Given the description of an element on the screen output the (x, y) to click on. 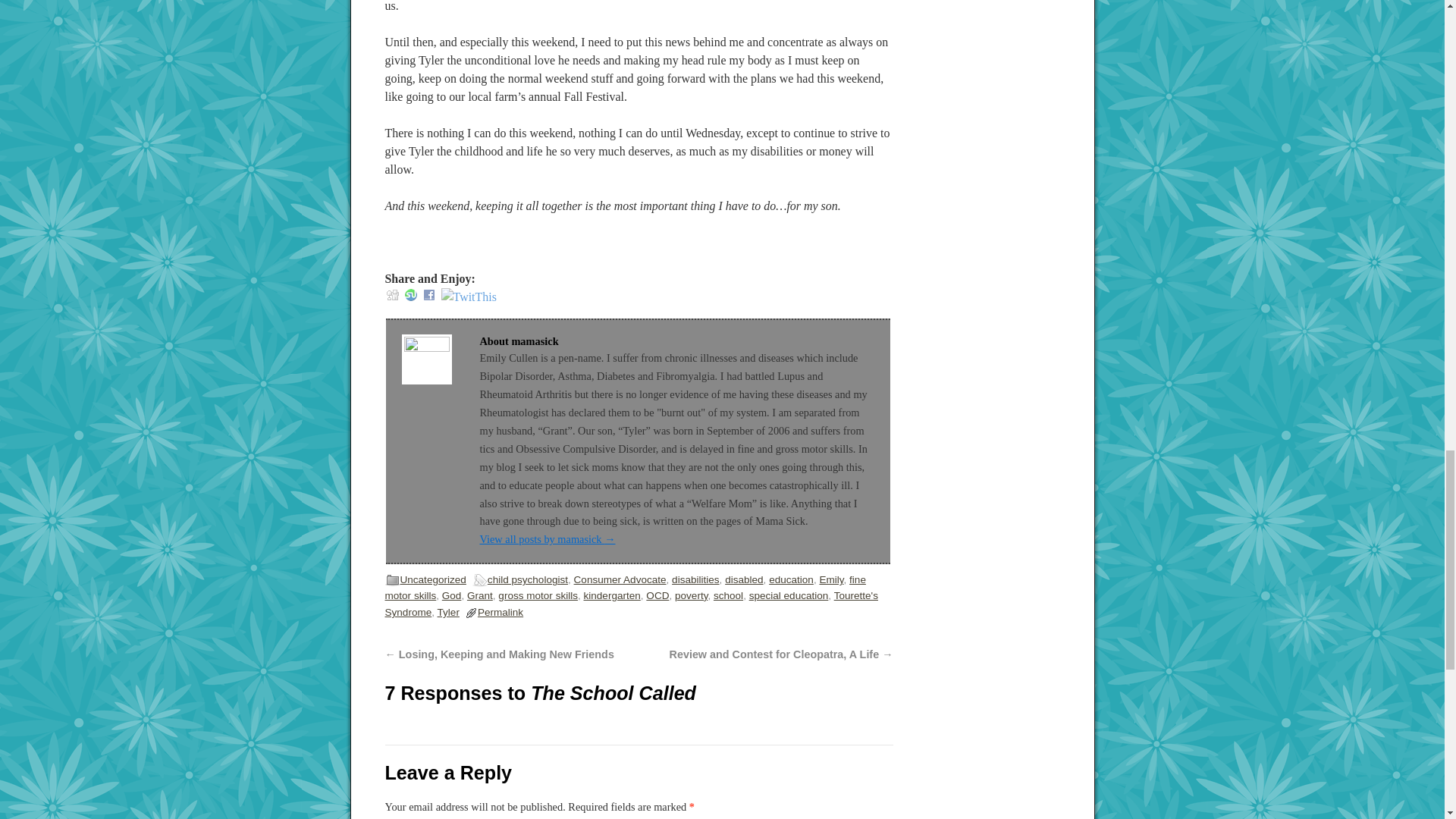
disabled (743, 579)
TwitThis (468, 297)
education (790, 579)
Permalink (499, 612)
special education (788, 595)
Consumer Advocate (619, 579)
Tourette's Syndrome (631, 603)
child psychologist (527, 579)
God (451, 595)
Permalink to The School Called (499, 612)
